Given the description of an element on the screen output the (x, y) to click on. 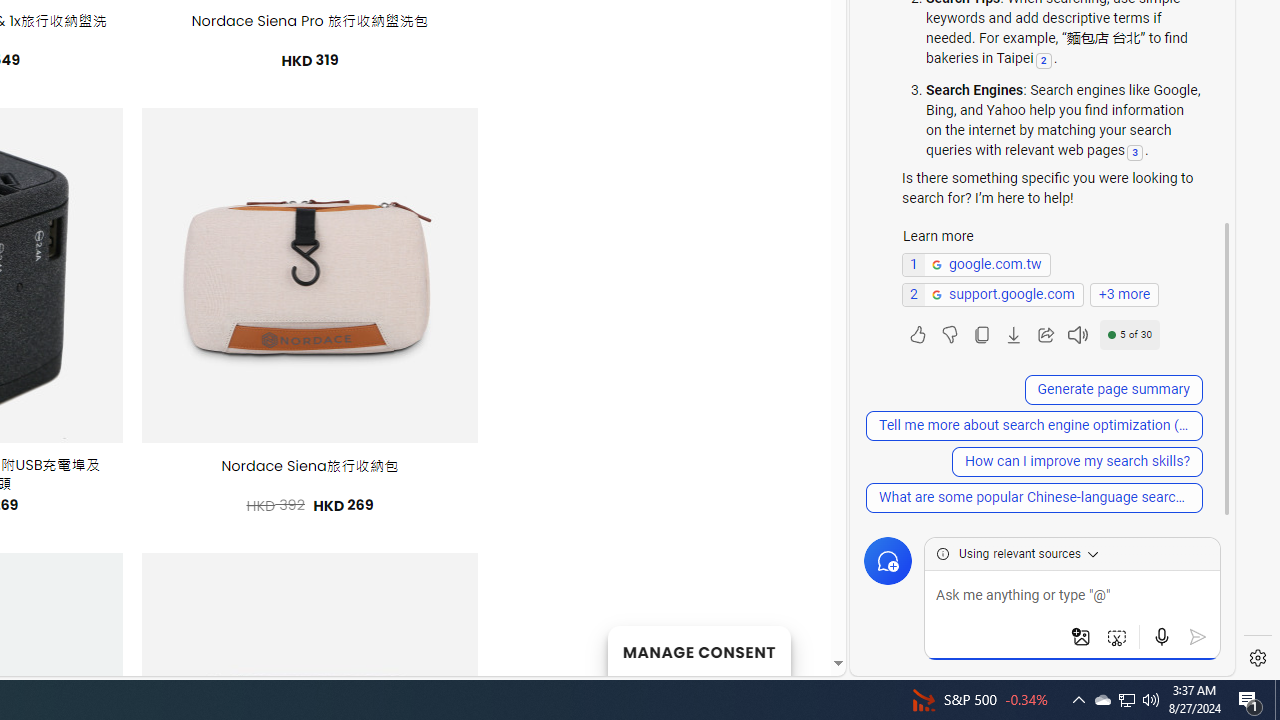
MANAGE CONSENT (698, 650)
